Given the description of an element on the screen output the (x, y) to click on. 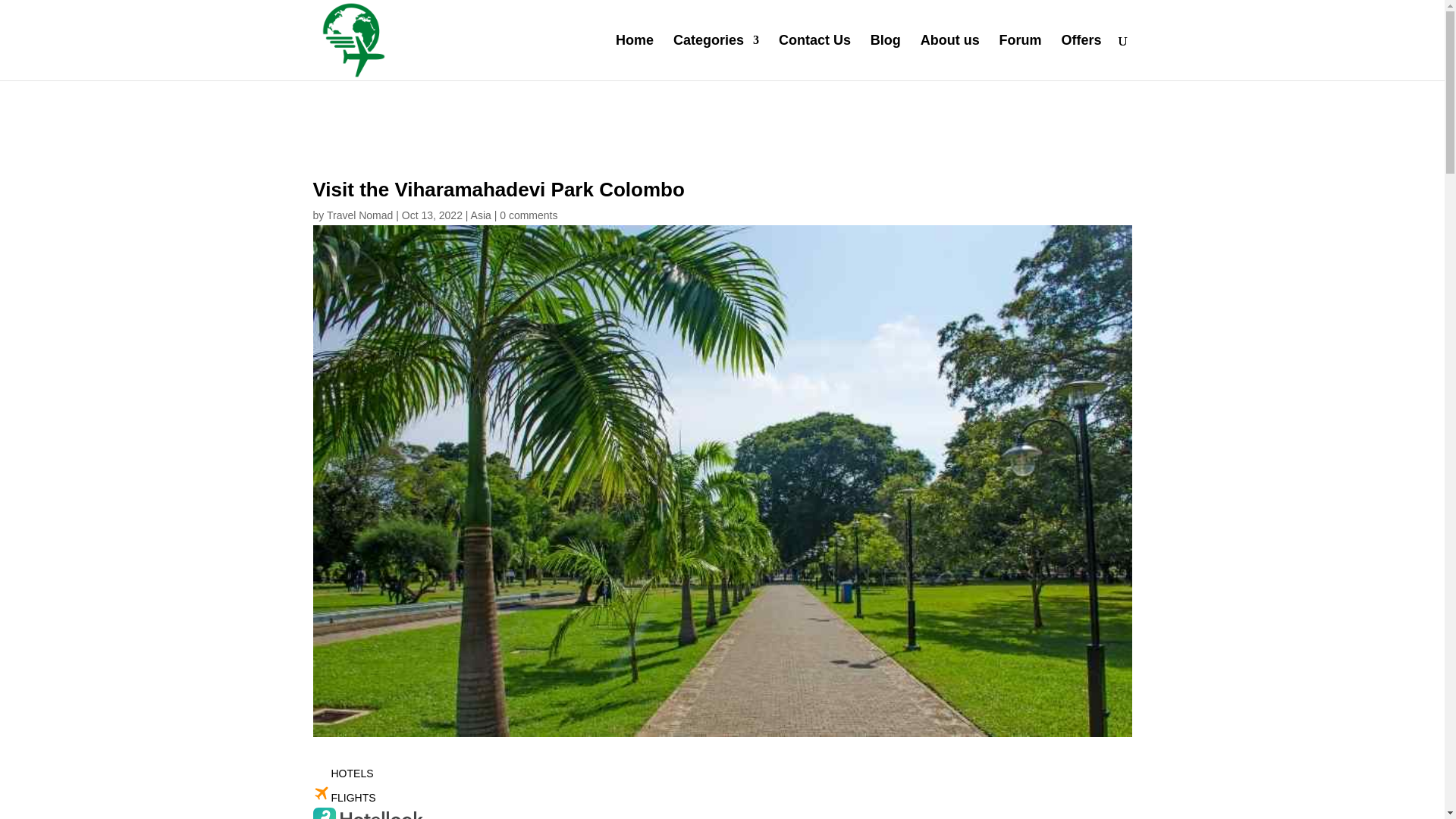
0 comments (528, 215)
About us (949, 57)
Categories (715, 57)
Contact Us (814, 57)
Forum (1020, 57)
Asia (481, 215)
Posts by Travel Nomad (359, 215)
Travel Nomad (359, 215)
